Given the description of an element on the screen output the (x, y) to click on. 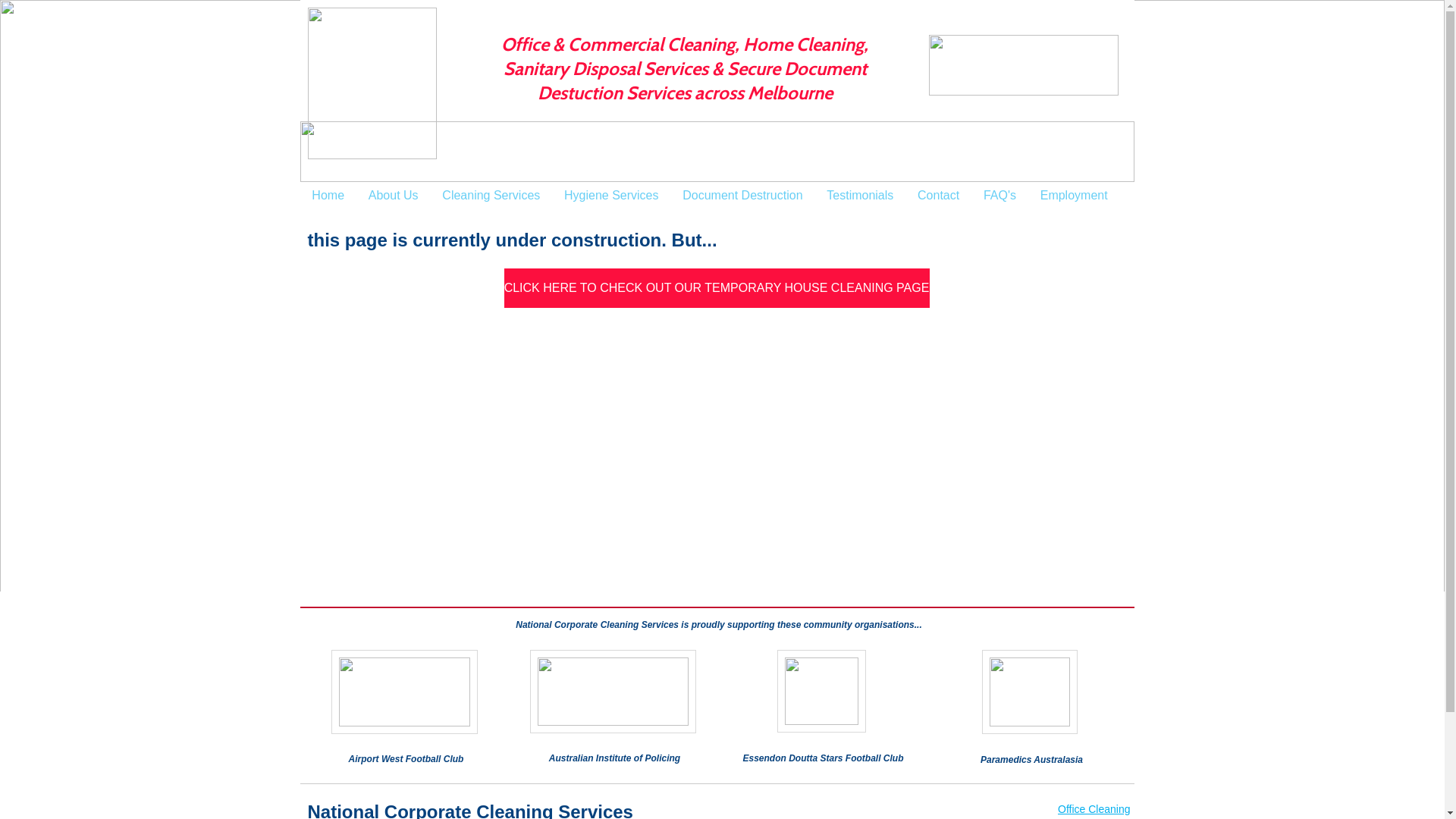
Office Cleaning Element type: text (1093, 809)
Cleaning Services Element type: text (490, 195)
FAQ's Element type: text (999, 195)
Testimonials Element type: text (859, 195)
Home Element type: text (328, 195)
Document Destruction Element type: text (742, 195)
Contact Element type: text (938, 195)
Hygiene Services Element type: text (611, 195)
CLICK HERE TO CHECK OUT OUR TEMPORARY HOUSE CLEANING PAGE Element type: text (715, 287)
About Us Element type: text (393, 195)
Employment Element type: text (1074, 195)
